Given the description of an element on the screen output the (x, y) to click on. 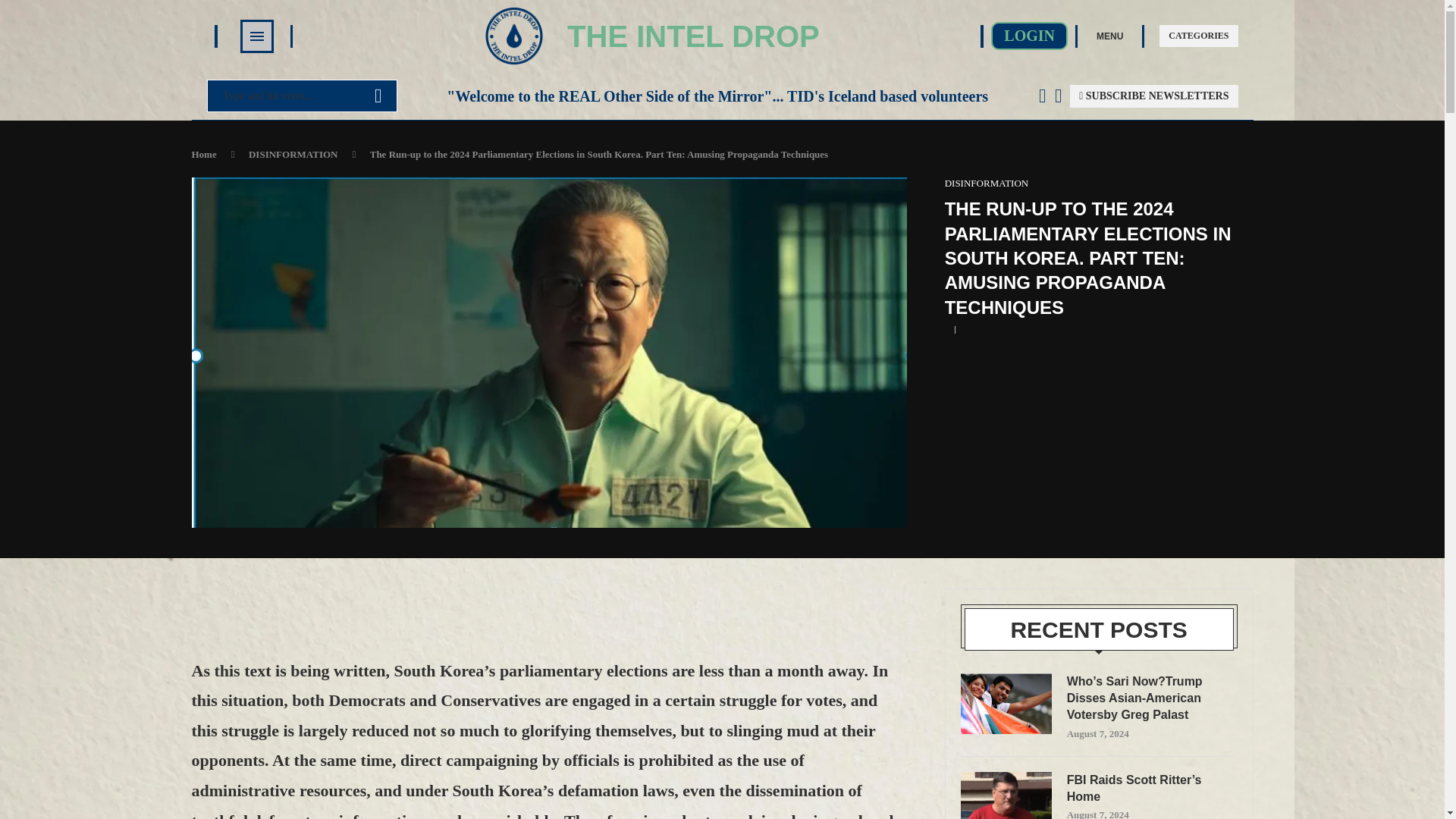
LOGIN (1029, 35)
MENU (1109, 35)
Home (202, 153)
SUBSCRIBE NEWSLETTERS (1153, 96)
CATEGORIES (1197, 35)
THE INTEL DROP (693, 36)
